Given the description of an element on the screen output the (x, y) to click on. 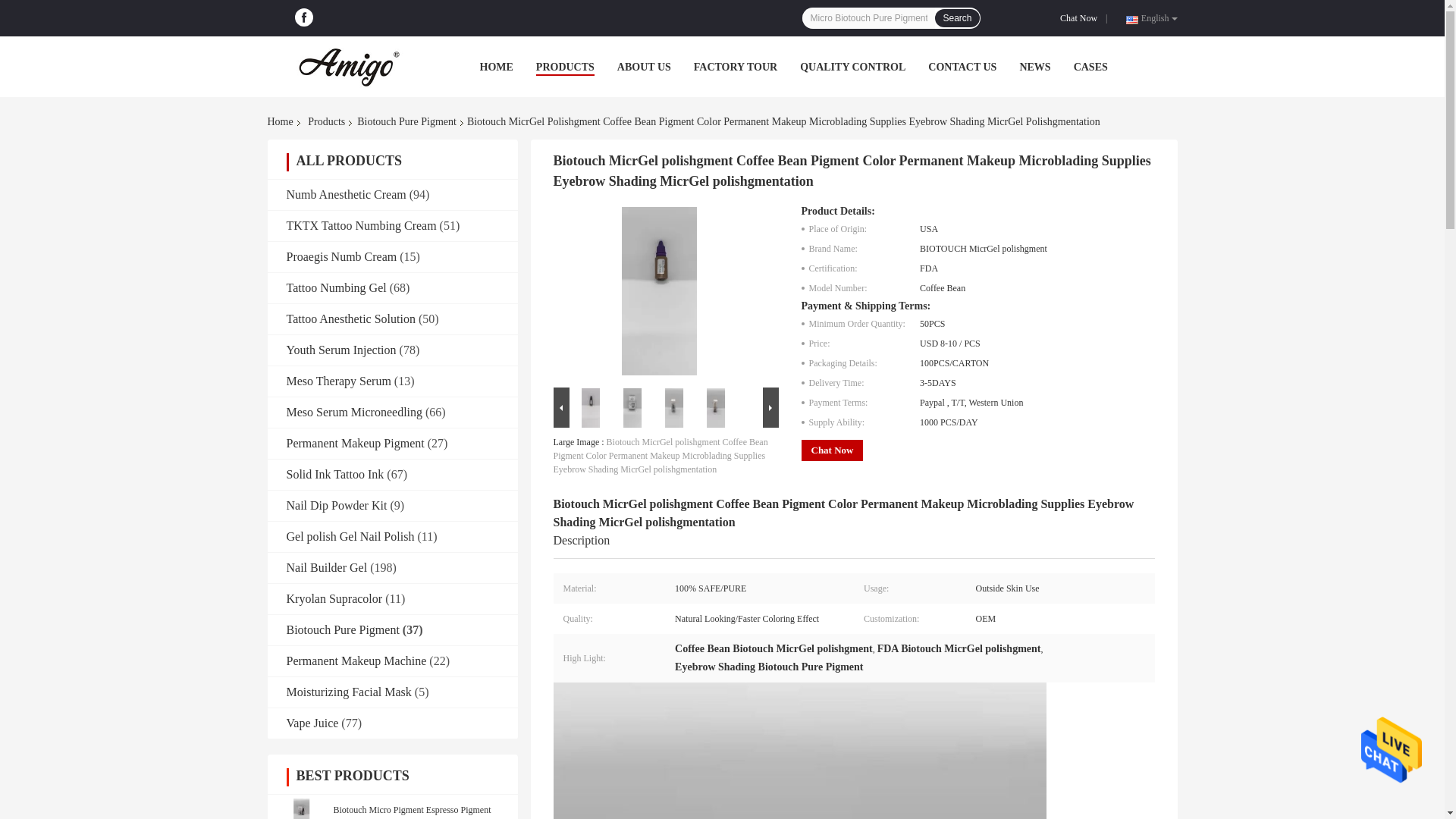
Home (282, 121)
Search (956, 18)
Numb Anesthetic Cream (346, 194)
Chat Now (1081, 18)
HOME (495, 66)
PRODUCTS (564, 66)
Biotouch Pure Pigment (406, 121)
CASES (1091, 66)
TKTX Tattoo Numbing Cream (361, 225)
QUALITY CONTROL (852, 66)
AMIGO BEAUTY MEDICAL CO., LIMITED Facebook (303, 17)
FACTORY TOUR (735, 66)
Proaegis Numb Cream (341, 256)
ABOUT US (644, 66)
NEWS (1034, 66)
